Given the description of an element on the screen output the (x, y) to click on. 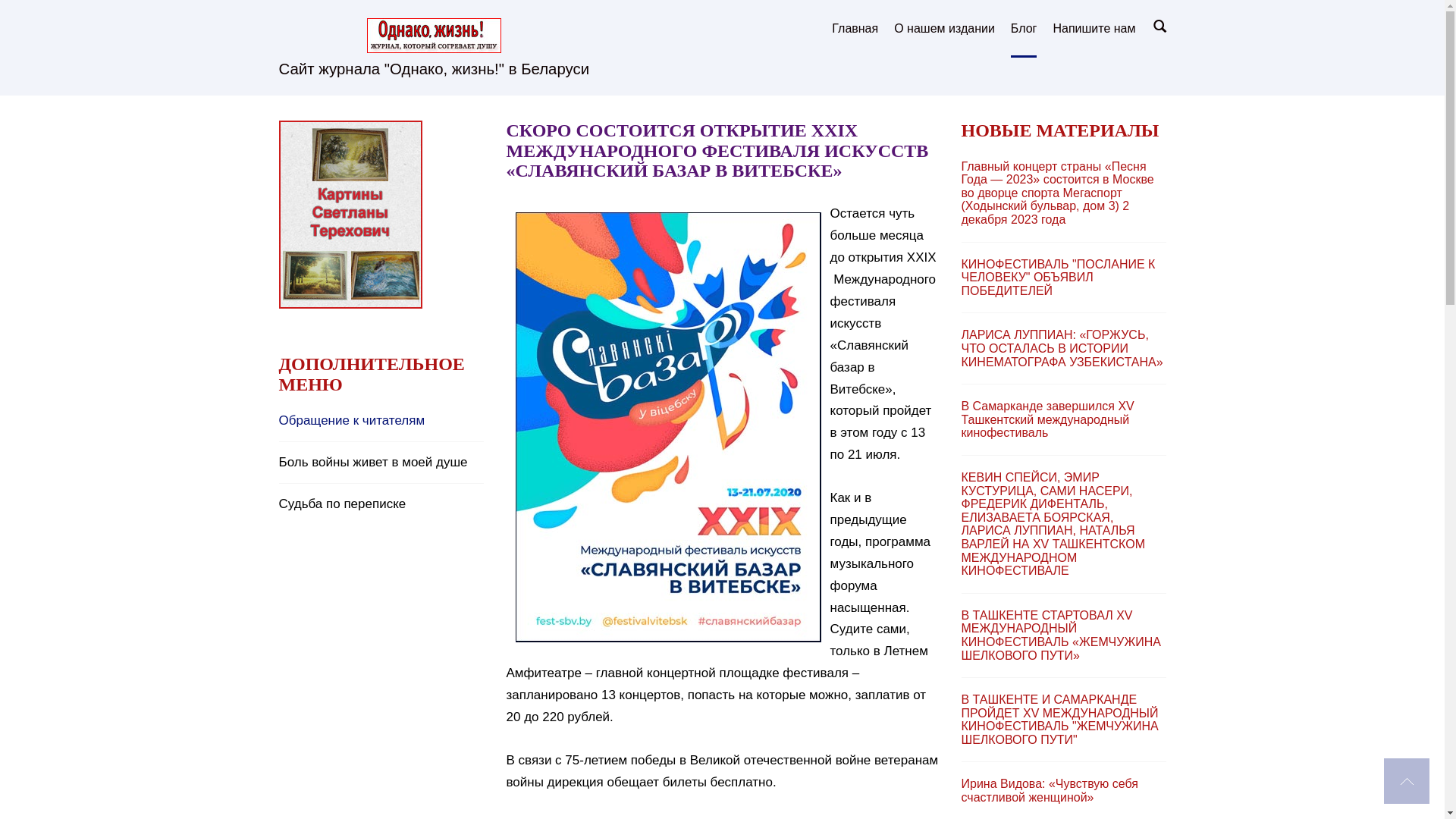
  Element type: text (1406, 780)
